Given the description of an element on the screen output the (x, y) to click on. 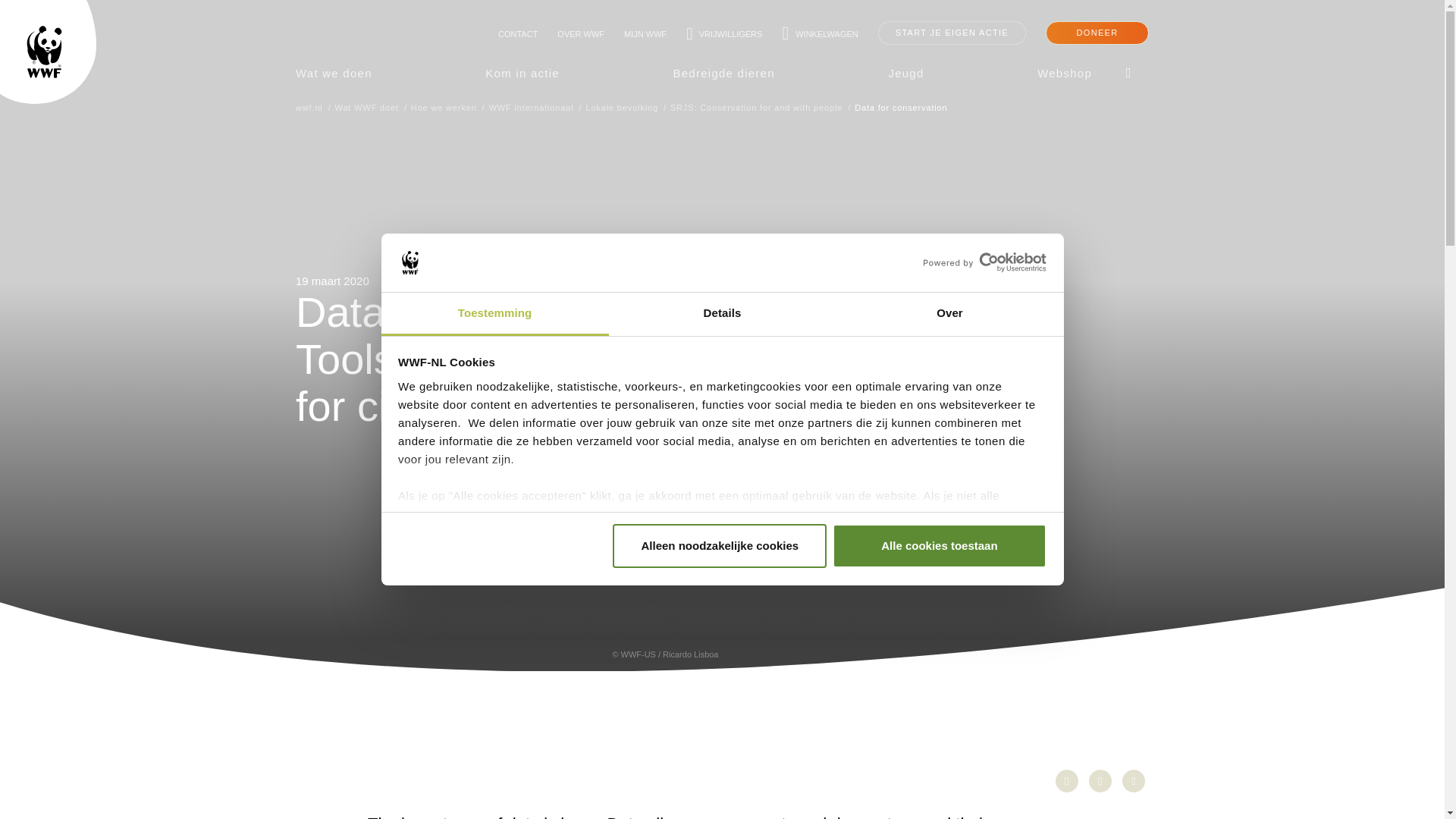
Cookie Policy (731, 549)
Over (948, 313)
Toestemming (494, 313)
Details (721, 313)
